Given the description of an element on the screen output the (x, y) to click on. 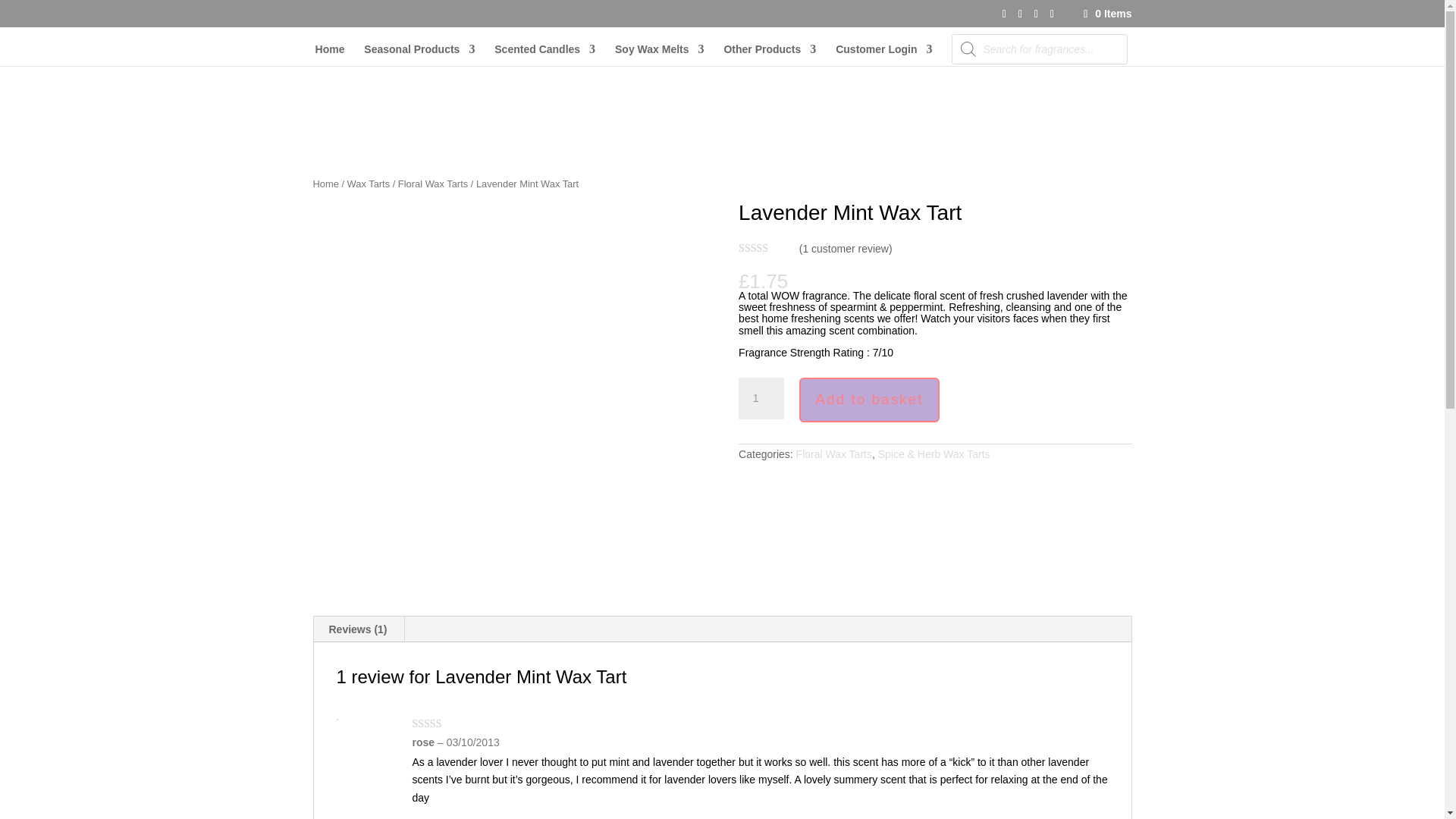
Wax Tarts (368, 183)
Customer Login (883, 55)
Home (325, 183)
Soy Wax Melts (659, 55)
0 Items (1105, 13)
Home (330, 55)
1 (761, 398)
Other Products (769, 55)
Seasonal Products (419, 55)
Floral Wax Tarts (432, 183)
Scented Candles (545, 55)
